Given the description of an element on the screen output the (x, y) to click on. 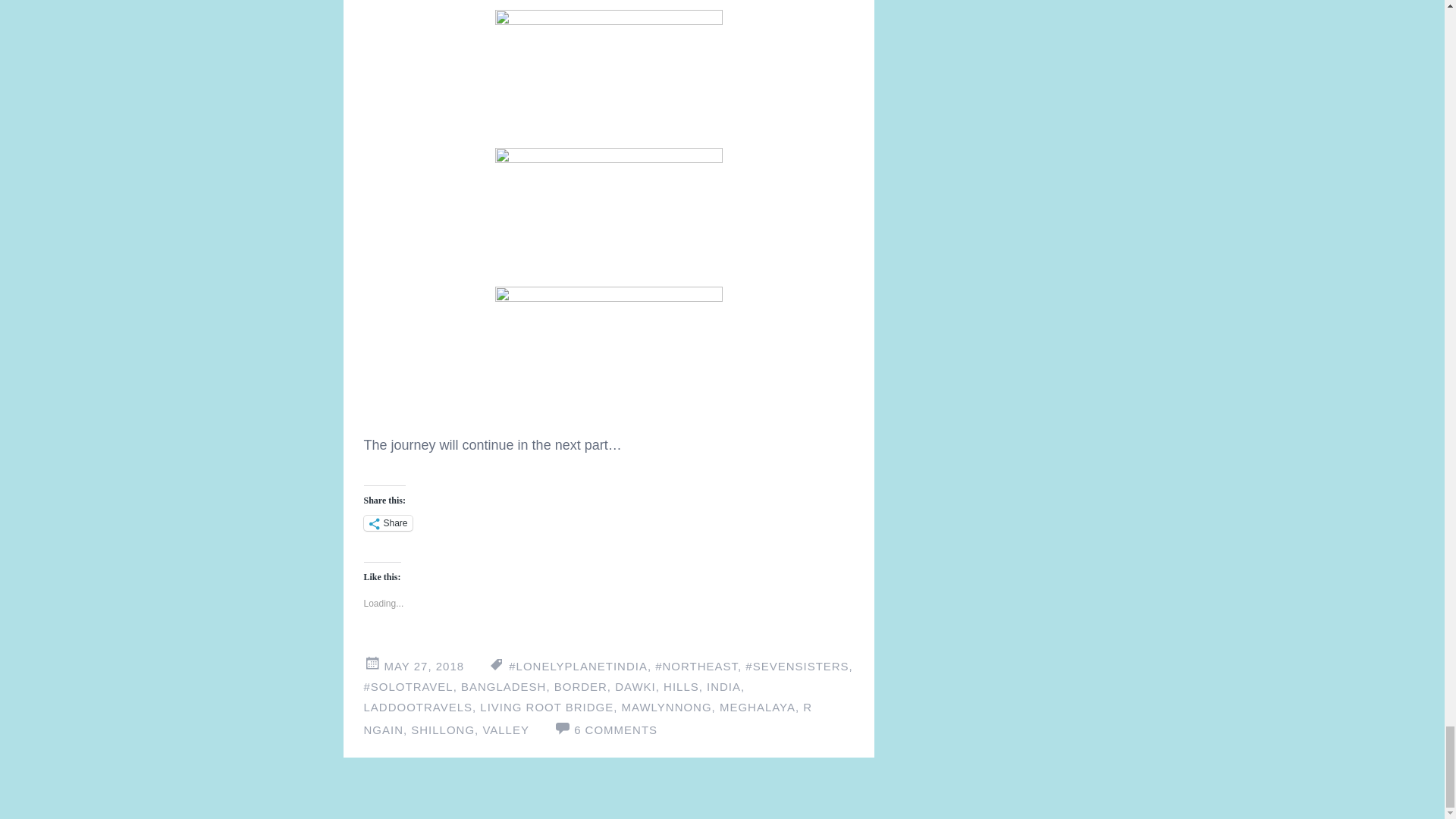
Share (388, 522)
MAY 27, 2018 (424, 666)
BORDER (580, 686)
LADDOOTRAVELS (417, 707)
INDIA (723, 686)
HILLS (680, 686)
DAWKI (635, 686)
LIVING ROOT BRIDGE (546, 707)
BANGLADESH (503, 686)
1:10 am (424, 666)
